Given the description of an element on the screen output the (x, y) to click on. 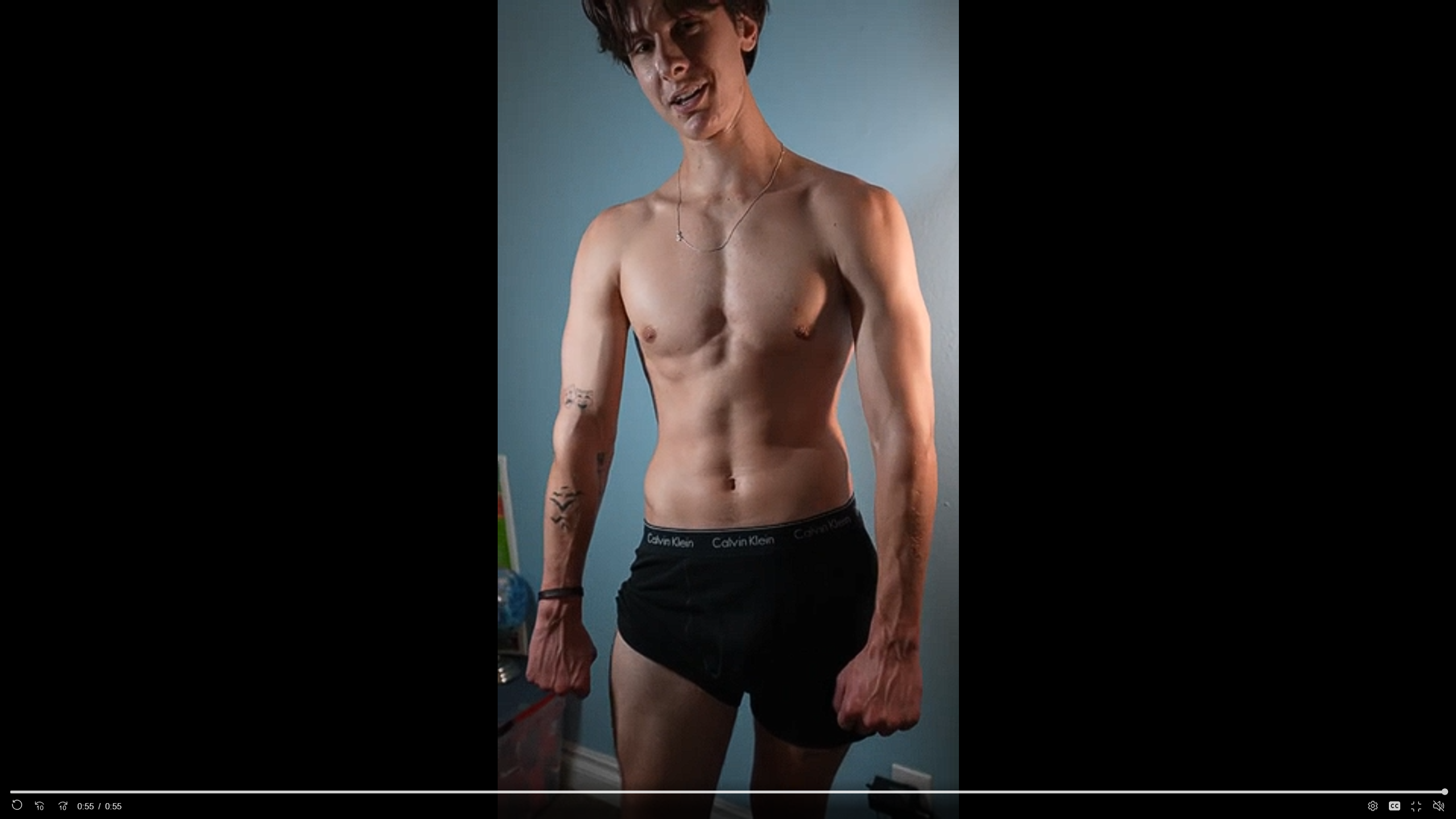
Seek Forward (62, 806)
Captions (1394, 806)
Progress Bar (727, 791)
Unmute (1438, 805)
Non-Fullscreen (1417, 806)
Seek Back (39, 806)
Replay (17, 806)
Quality Settings (1371, 806)
